Given the description of an element on the screen output the (x, y) to click on. 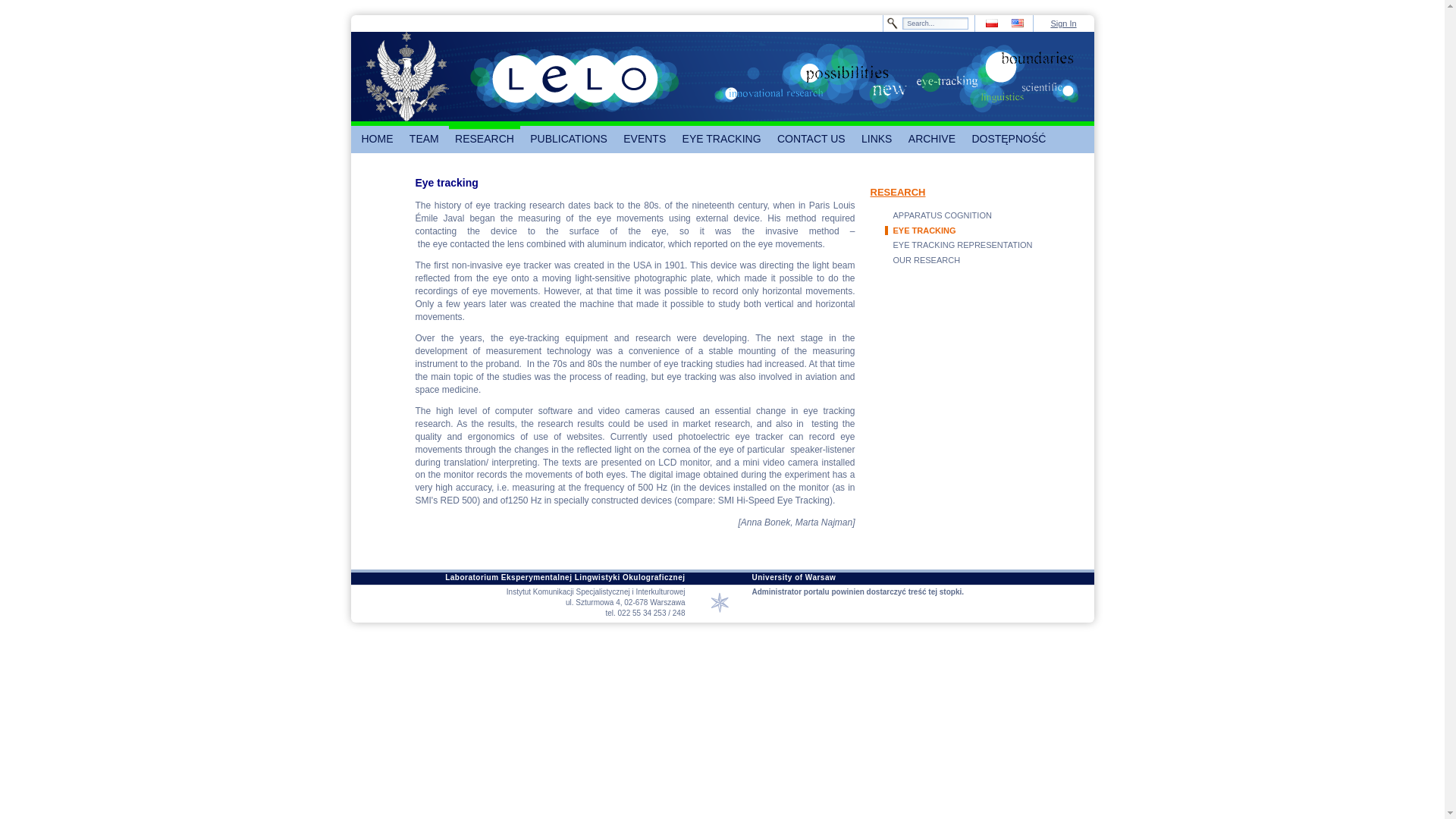
RESEARCH (483, 139)
HOME (376, 139)
EVENTS (644, 139)
Search Web Content (935, 23)
EYE TRACKING (722, 139)
TEAM (424, 139)
Go to Uniwersytet Warszawski (406, 76)
Sign In (1062, 22)
PUBLICATIONS (568, 139)
Search... (935, 23)
